Given the description of an element on the screen output the (x, y) to click on. 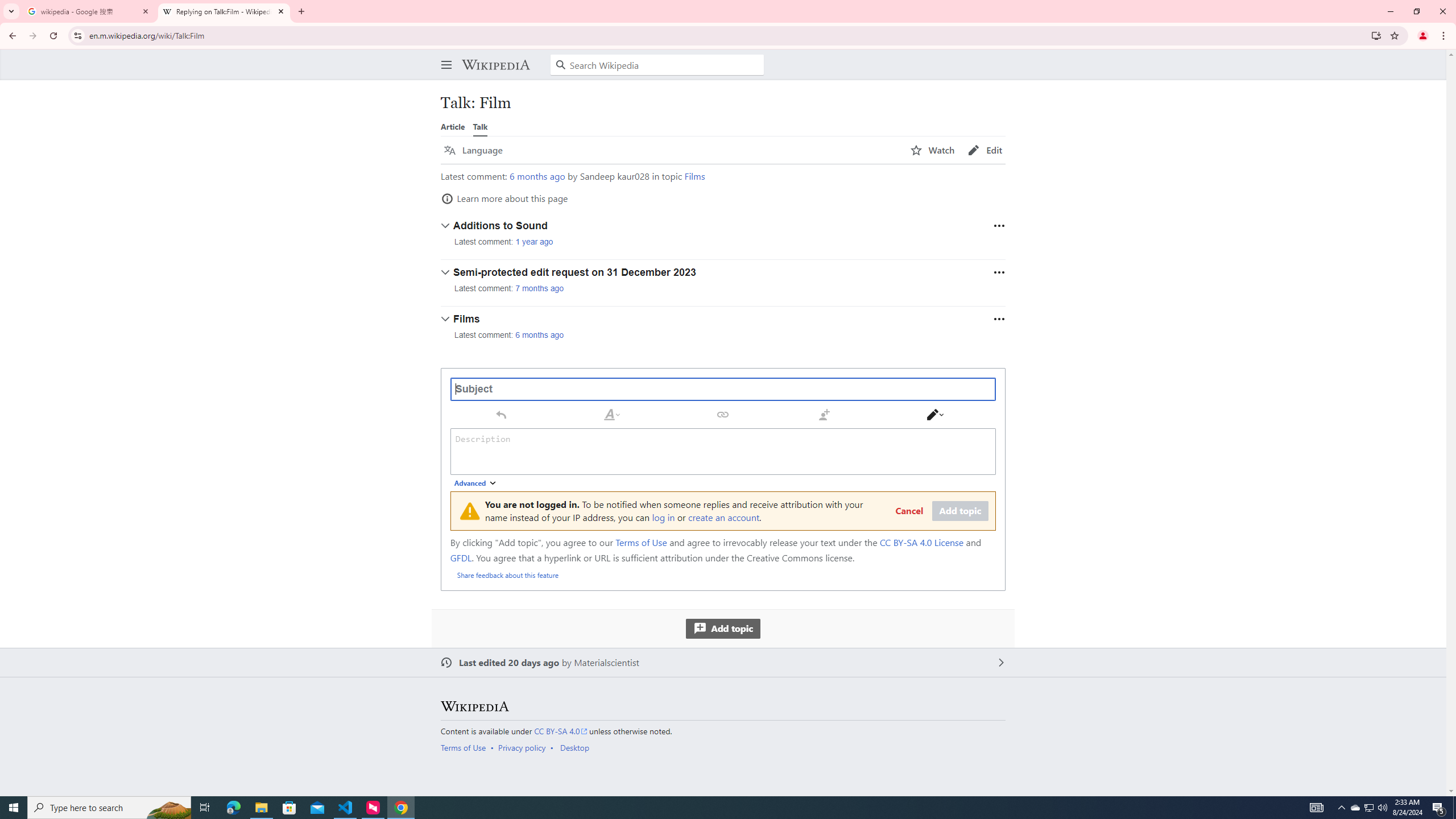
AutomationID: page-actions-edit (984, 150)
Learn more about this page (504, 198)
GFDL (460, 557)
Replying on Talk:Film - Wikipedia (224, 11)
Wikipedia (474, 706)
Share feedback about this feature (508, 574)
log in (663, 517)
Talk (480, 126)
Mention a user (824, 414)
AutomationID: footer-info-copyright (720, 731)
Films (694, 176)
Wikipedia (495, 64)
